Given the description of an element on the screen output the (x, y) to click on. 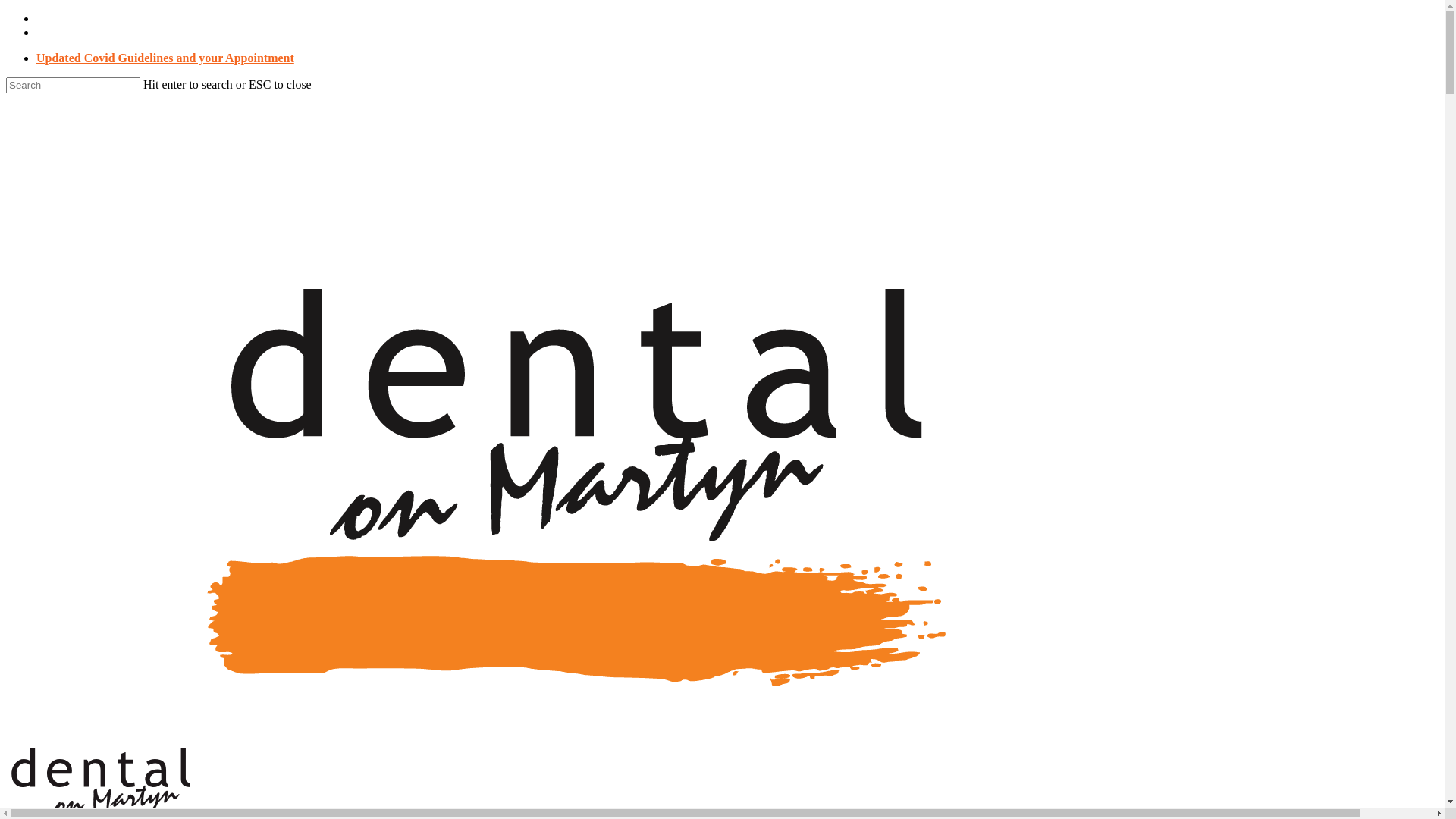
Updated Covid Guidelines and your Appointment Element type: text (165, 57)
